Given the description of an element on the screen output the (x, y) to click on. 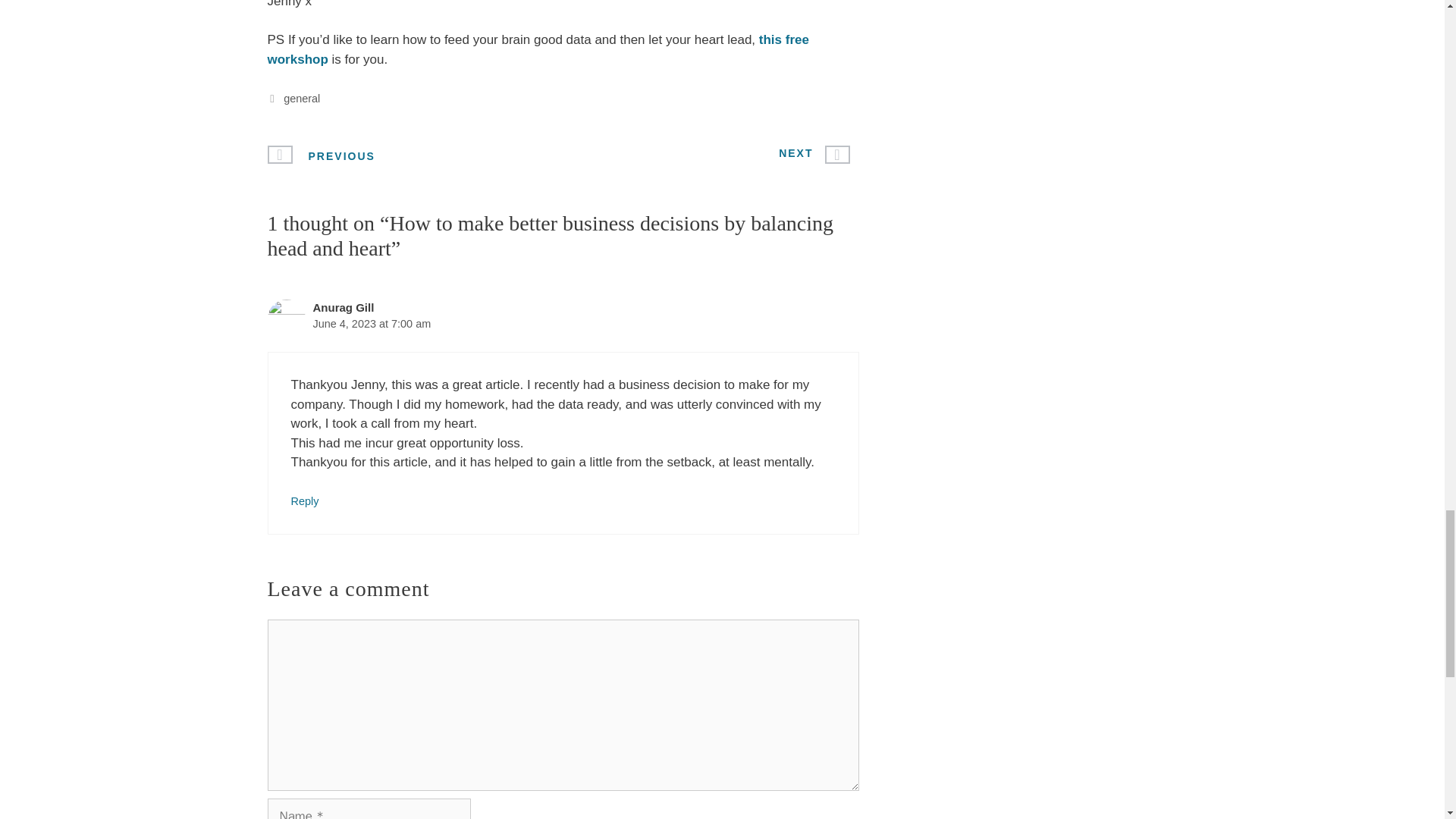
this free workshop (537, 49)
Reply (304, 500)
NEXT (795, 152)
general (301, 98)
PREVIOUS (341, 155)
June 4, 2023 at 7:00 am (371, 323)
